Given the description of an element on the screen output the (x, y) to click on. 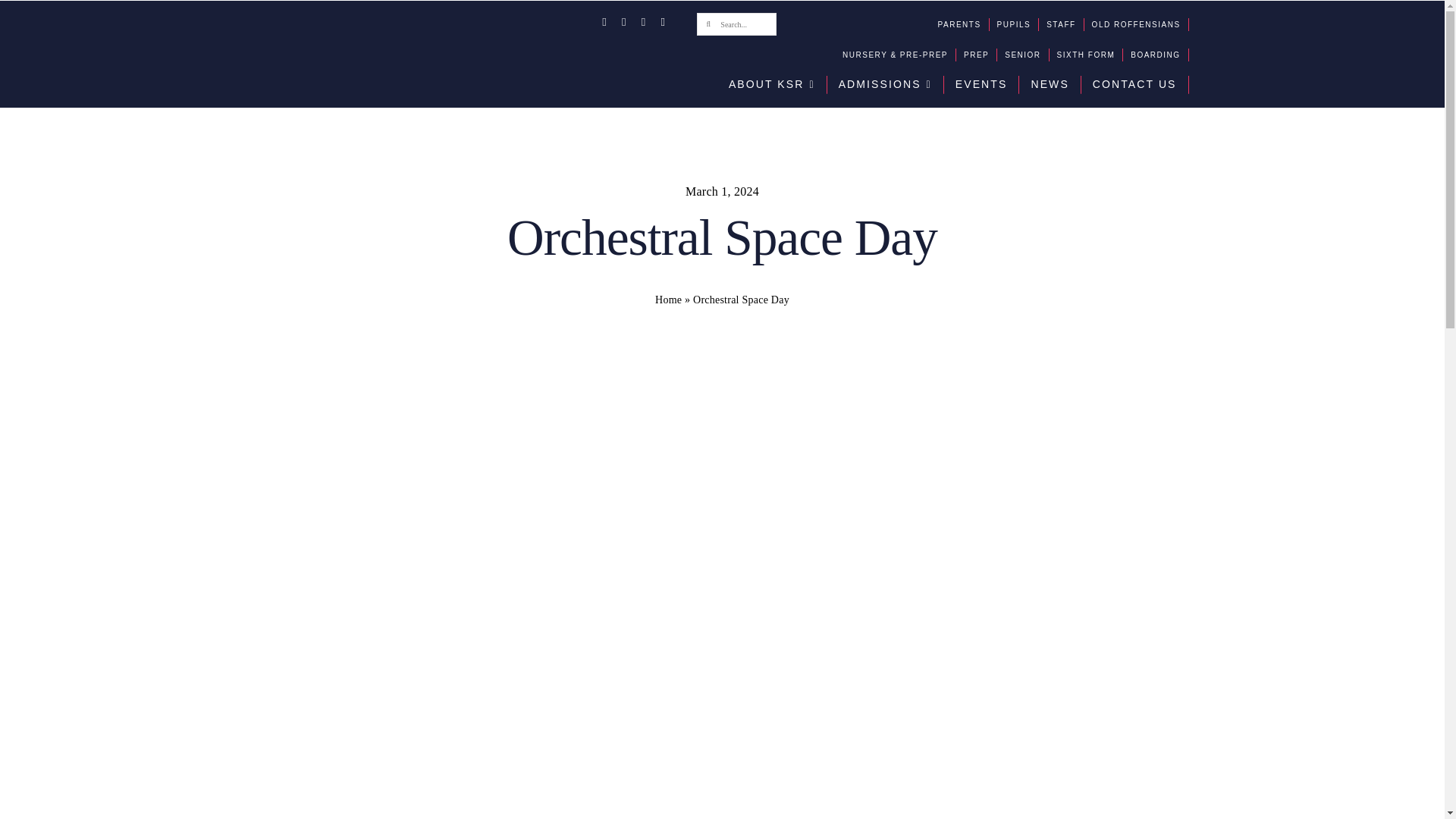
SIXTH FORM (1090, 54)
PUPILS (1018, 24)
OLD ROFFENSIANS (1140, 24)
ABOUT KSR (776, 85)
PREP (980, 54)
ADMISSIONS (888, 85)
BOARDING (1159, 54)
PARENTS (963, 24)
STAFF (1064, 24)
